Given the description of an element on the screen output the (x, y) to click on. 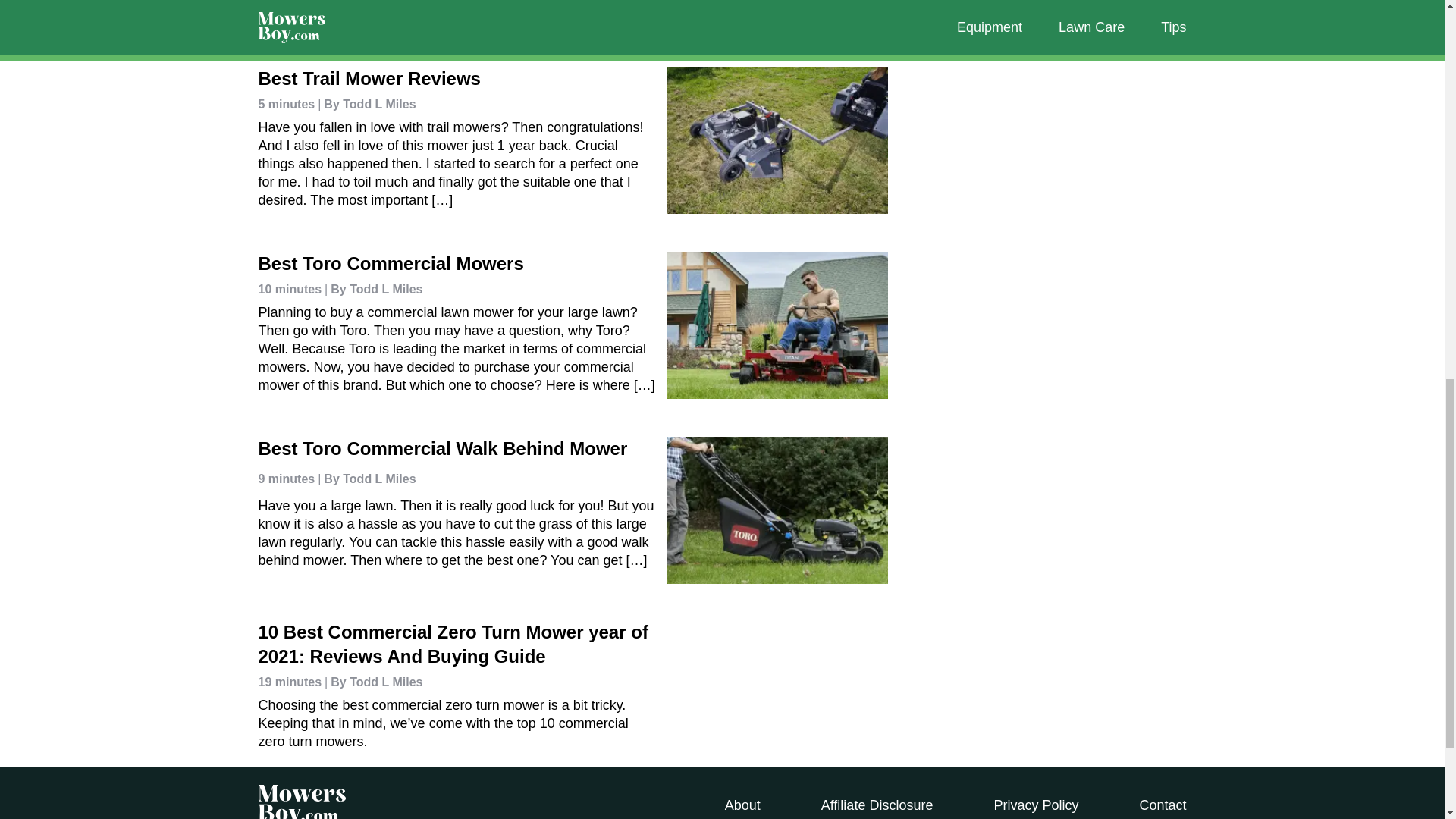
By Todd L Miles (365, 104)
By Todd L Miles (373, 289)
Best Trail Mower Reviews (368, 77)
Best Toro Commercial Mowers (389, 263)
Best Toro Commercial Walk Behind Mower (442, 448)
